Given the description of an element on the screen output the (x, y) to click on. 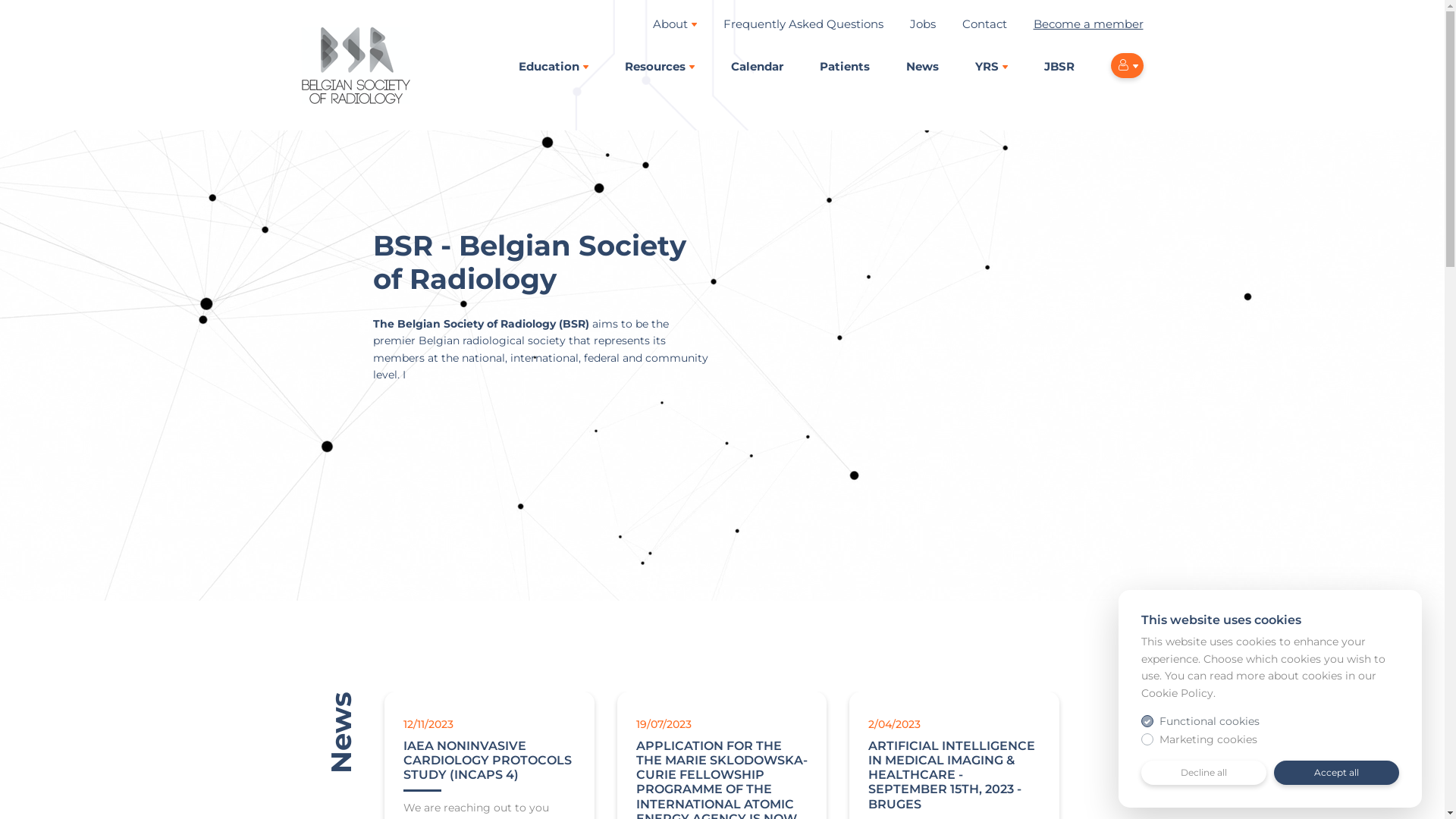
Frequently Asked Questions Element type: text (803, 23)
Become a member Element type: text (1087, 23)
About Element type: text (674, 23)
YRS Element type: text (991, 66)
Resources Element type: text (659, 66)
News Element type: text (921, 66)
Jobs Element type: text (922, 23)
Education Element type: text (553, 66)
Patients Element type: text (844, 66)
JBSR Element type: text (1058, 66)
Decline all Element type: text (1203, 772)
My account Element type: hover (1126, 65)
Accept all Element type: text (1336, 772)
Calendar Element type: text (757, 66)
Contact Element type: text (983, 23)
